Given the description of an element on the screen output the (x, y) to click on. 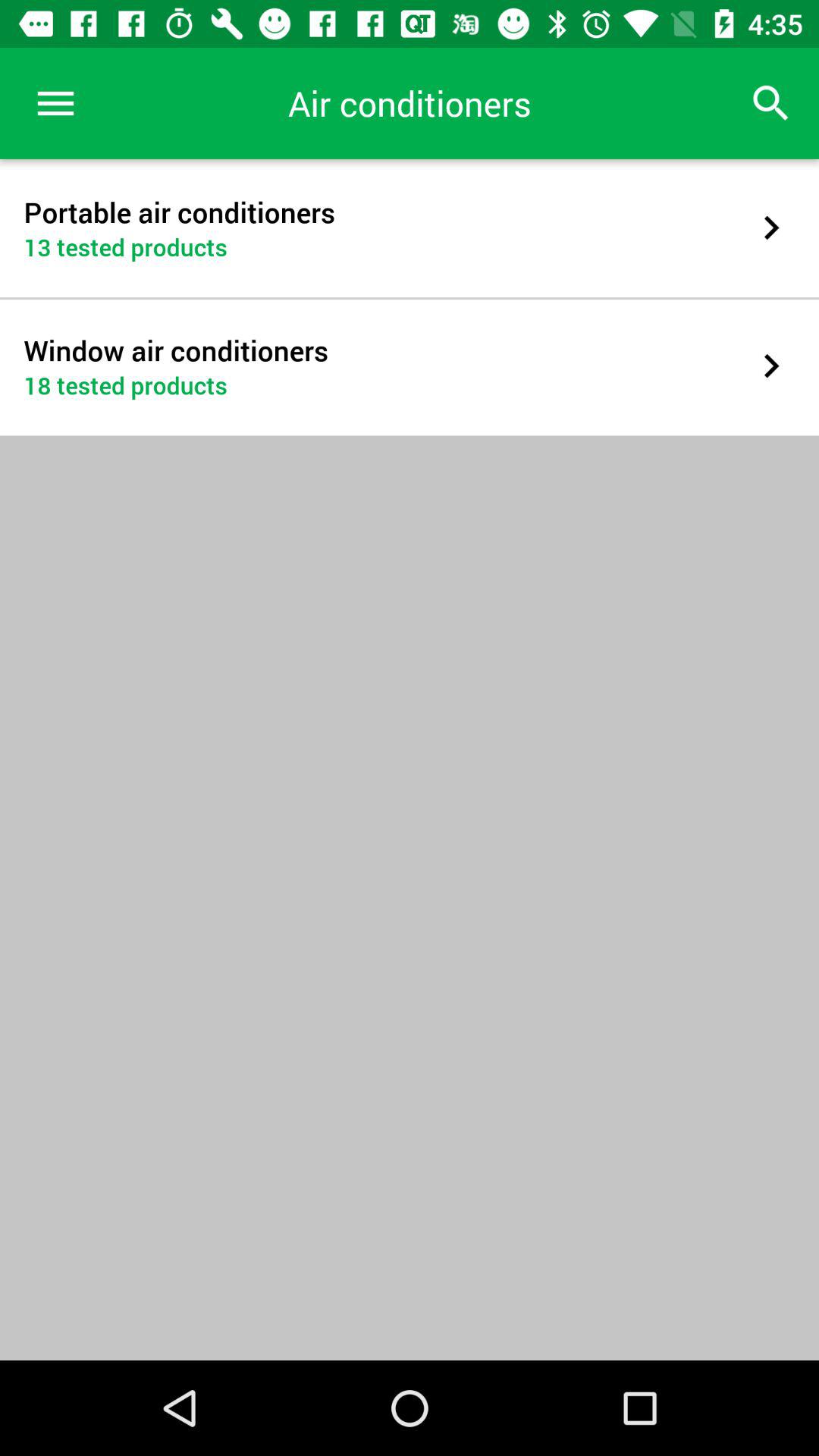
press the item above the portable air conditioners icon (55, 103)
